Given the description of an element on the screen output the (x, y) to click on. 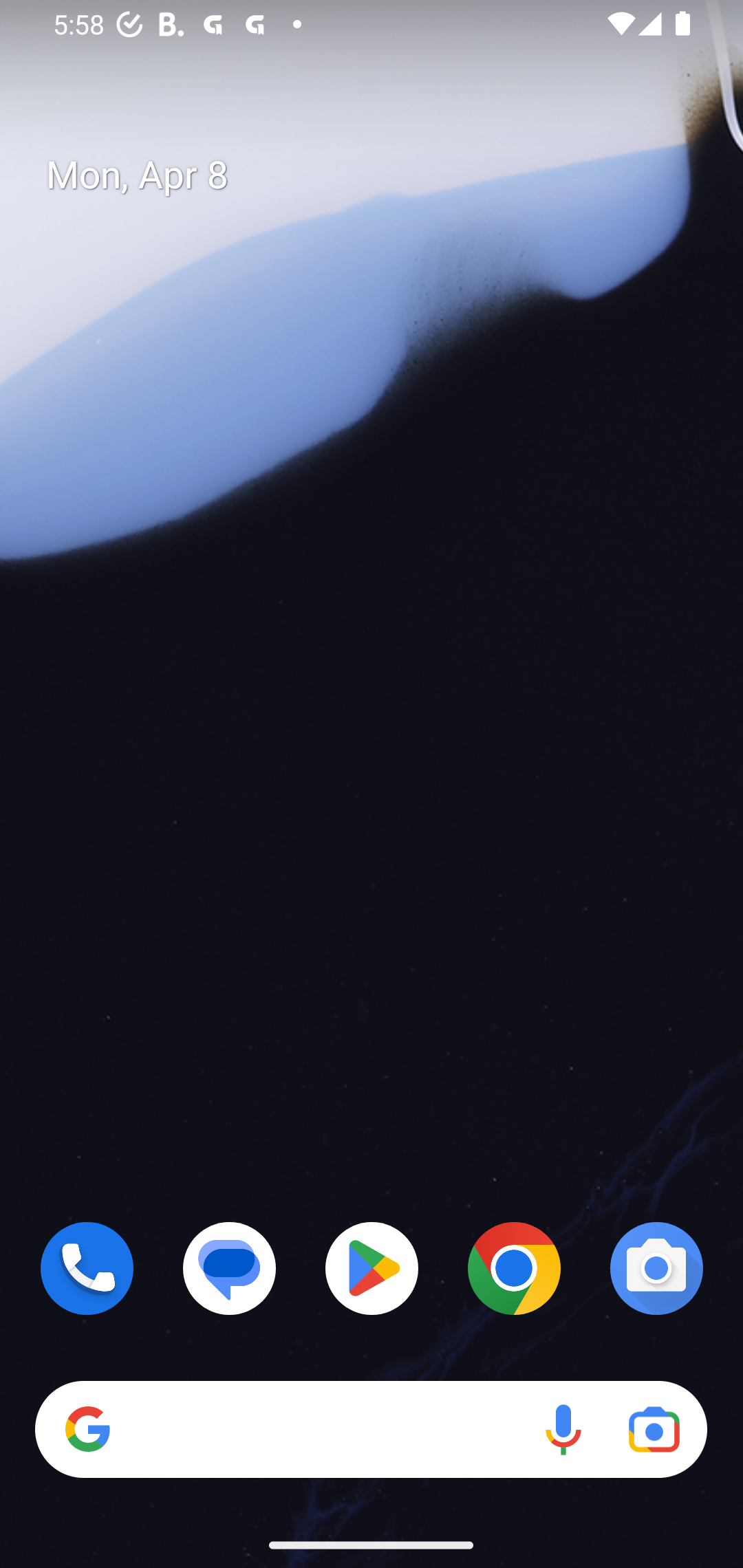
Mon, Apr 8 (386, 175)
Phone (86, 1268)
Messages (229, 1268)
Play Store (371, 1268)
Chrome (513, 1268)
Camera (656, 1268)
Search Voice search Google Lens (370, 1429)
Voice search (562, 1429)
Google Lens (653, 1429)
